Given the description of an element on the screen output the (x, y) to click on. 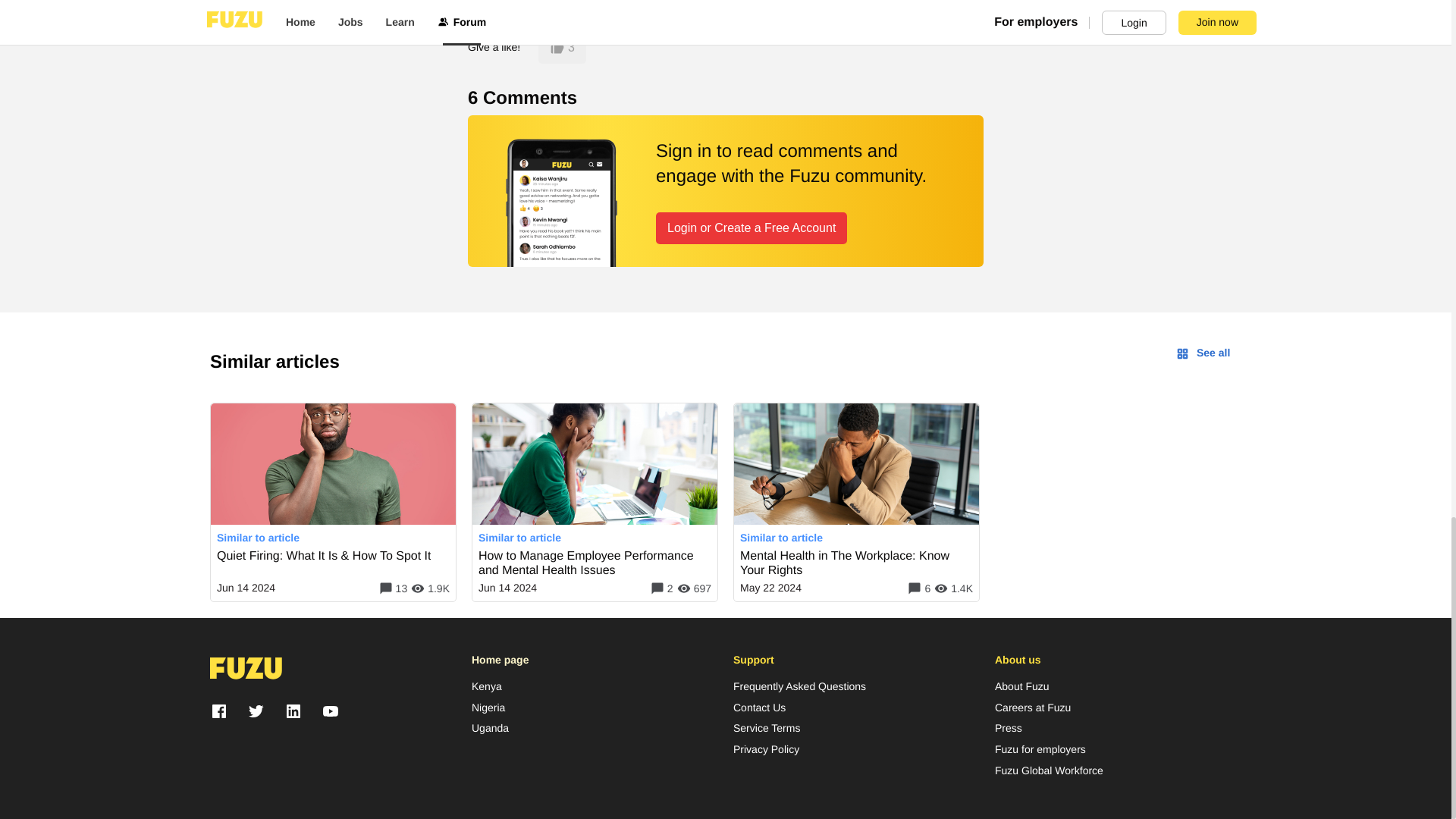
3 (562, 47)
Fuzu Global Workforce (1048, 770)
See all (1202, 353)
Press (1008, 728)
Uganda (489, 728)
Login or Create a Free Account (751, 228)
About Fuzu (1021, 686)
Contact Us (759, 708)
Kenya (486, 686)
Service Terms (766, 728)
Frequently Asked Questions (799, 686)
Privacy Policy (766, 749)
Fuzu for employers (1040, 749)
Careers at Fuzu (1032, 708)
